Given the description of an element on the screen output the (x, y) to click on. 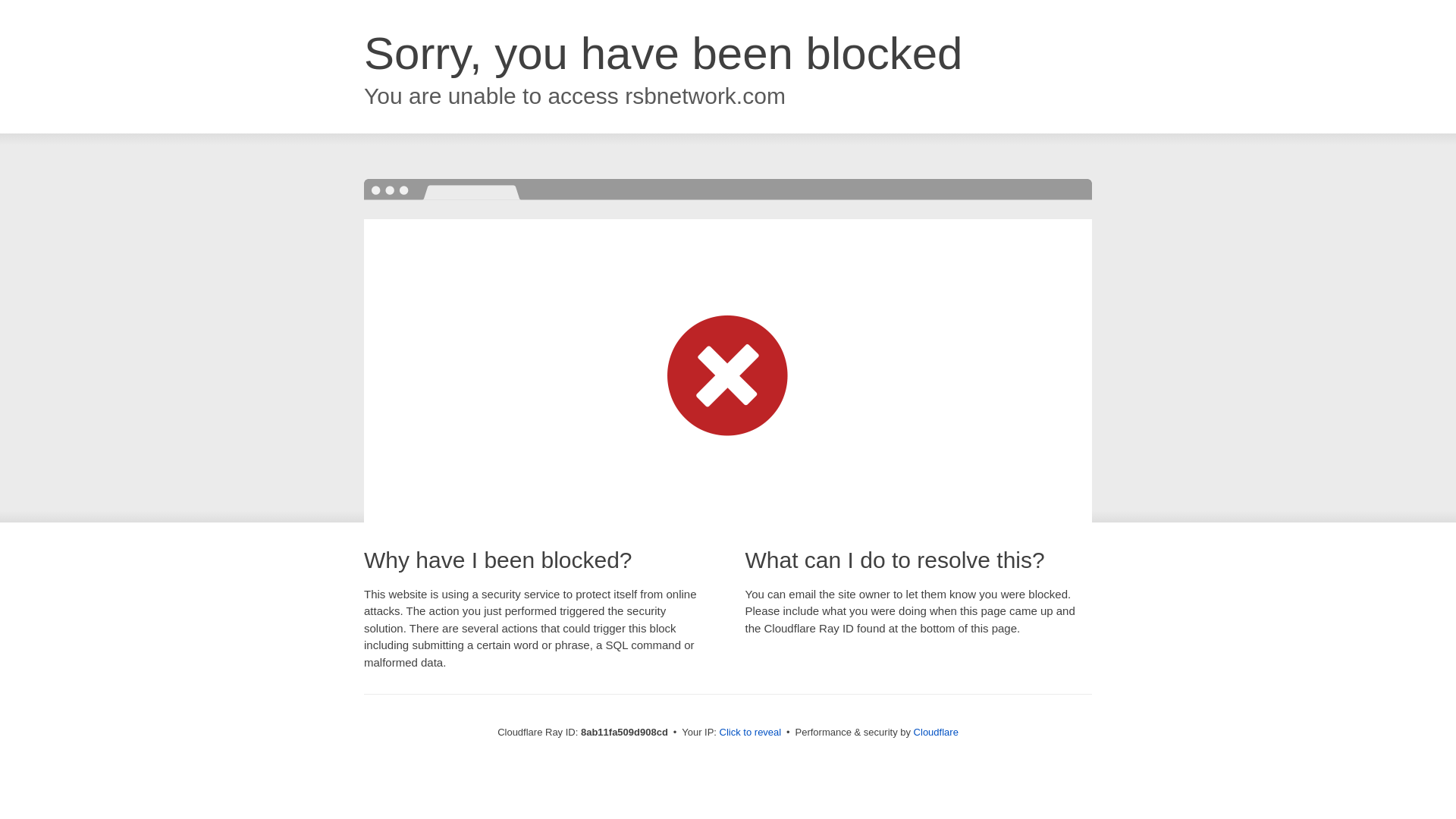
Cloudflare (936, 731)
Click to reveal (750, 732)
